Given the description of an element on the screen output the (x, y) to click on. 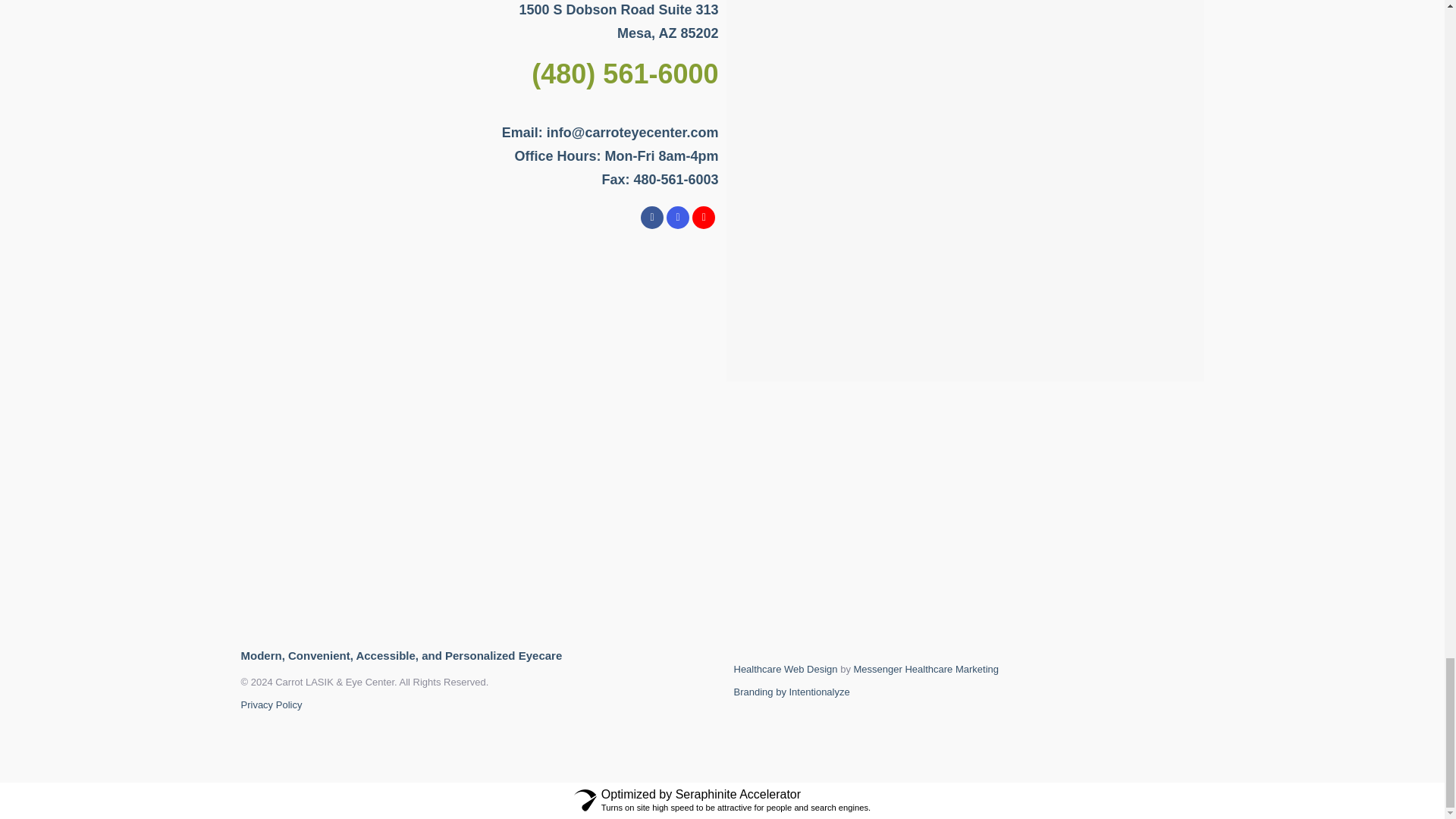
badge-33247 (1133, 516)
joint-commission (968, 516)
2023-CC-TD-logo (640, 516)
fatd-badge (804, 516)
ea9fe96a-7c65-4516-9239-b2fe95ccf0bd (489, 516)
